Given the description of an element on the screen output the (x, y) to click on. 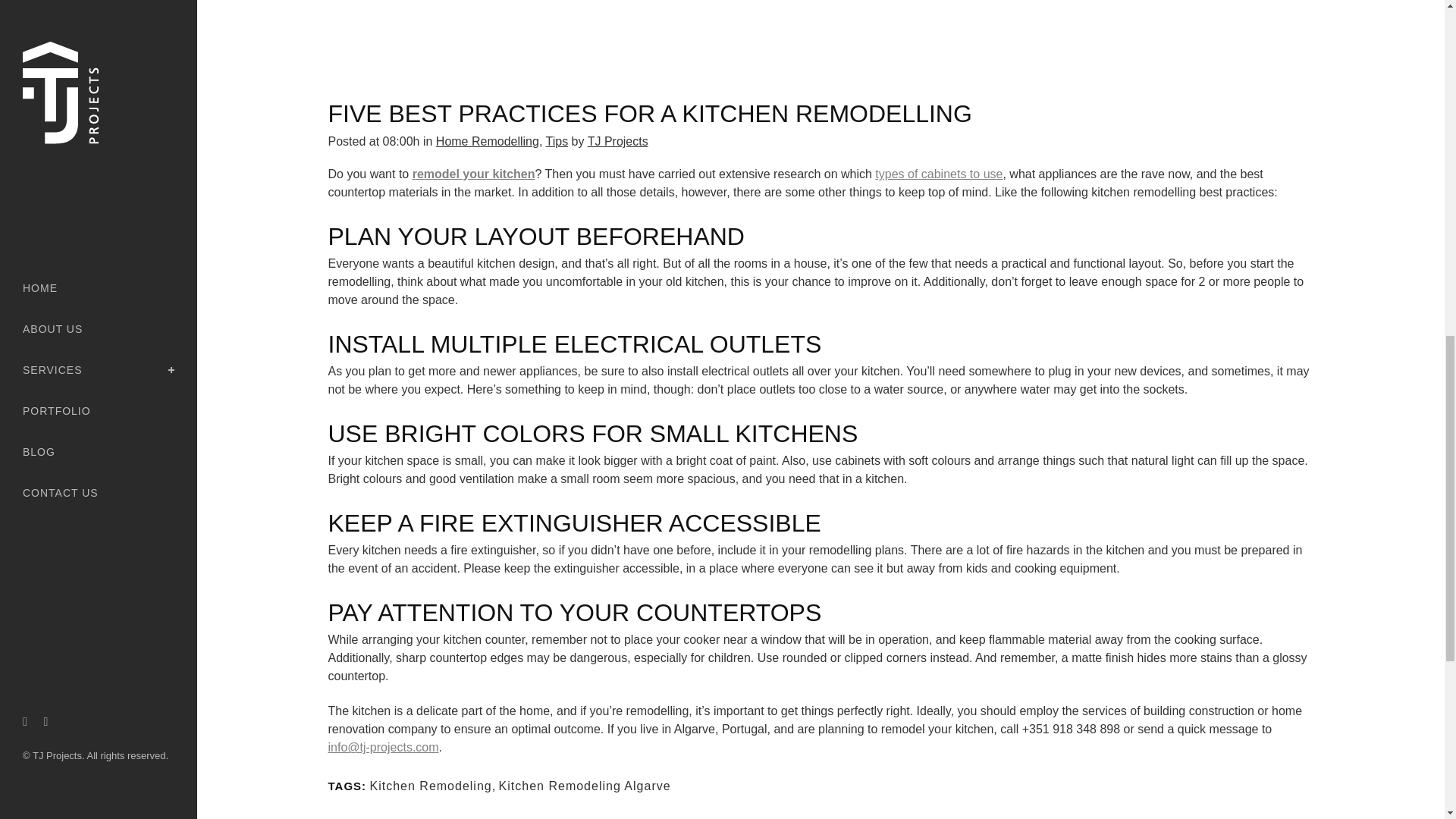
Tips (557, 141)
TJ Projects (617, 141)
Home Remodelling (486, 141)
remodel your kitchen (473, 173)
